Given the description of an element on the screen output the (x, y) to click on. 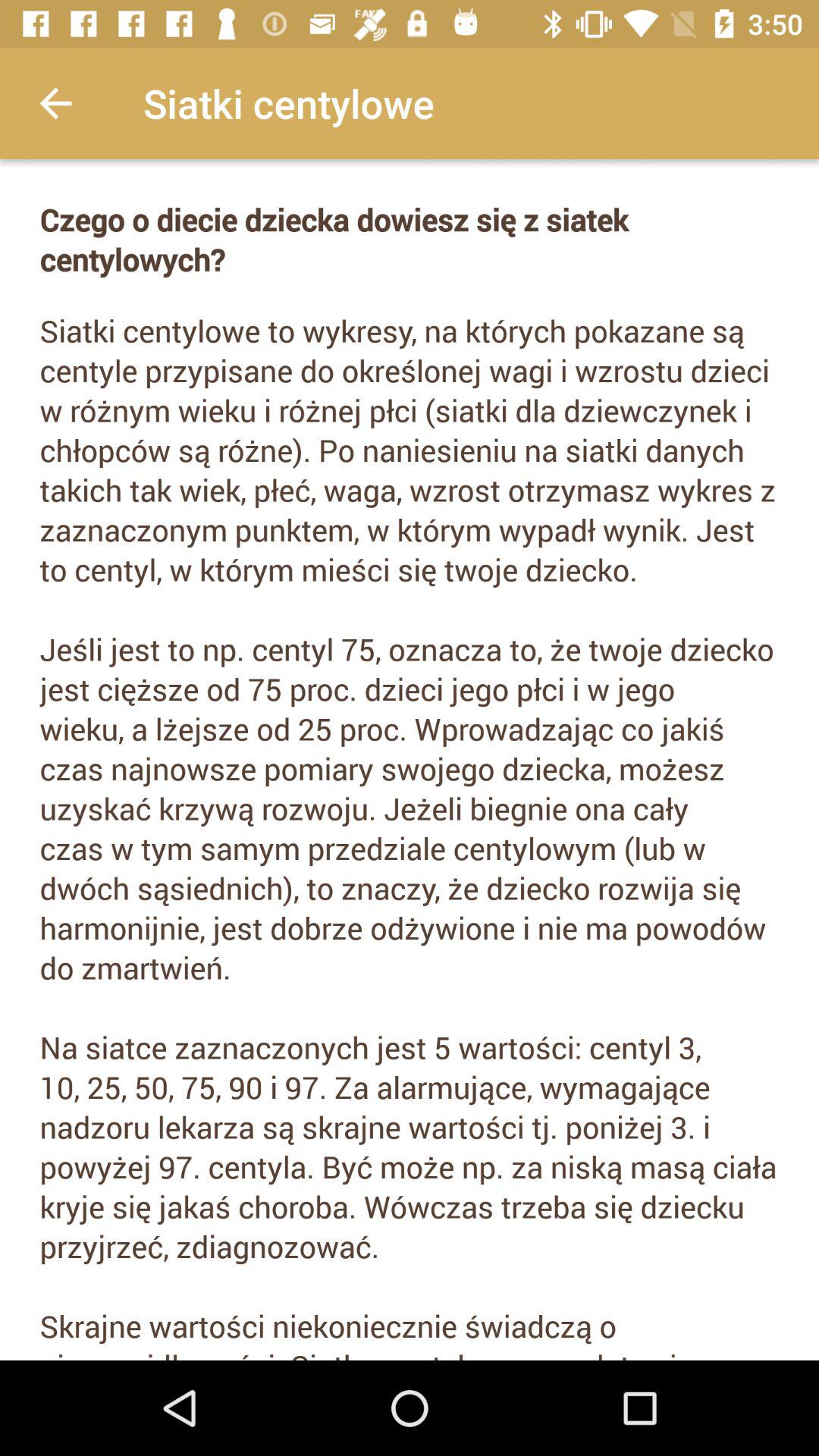
open the czego o diecie (409, 239)
